Given the description of an element on the screen output the (x, y) to click on. 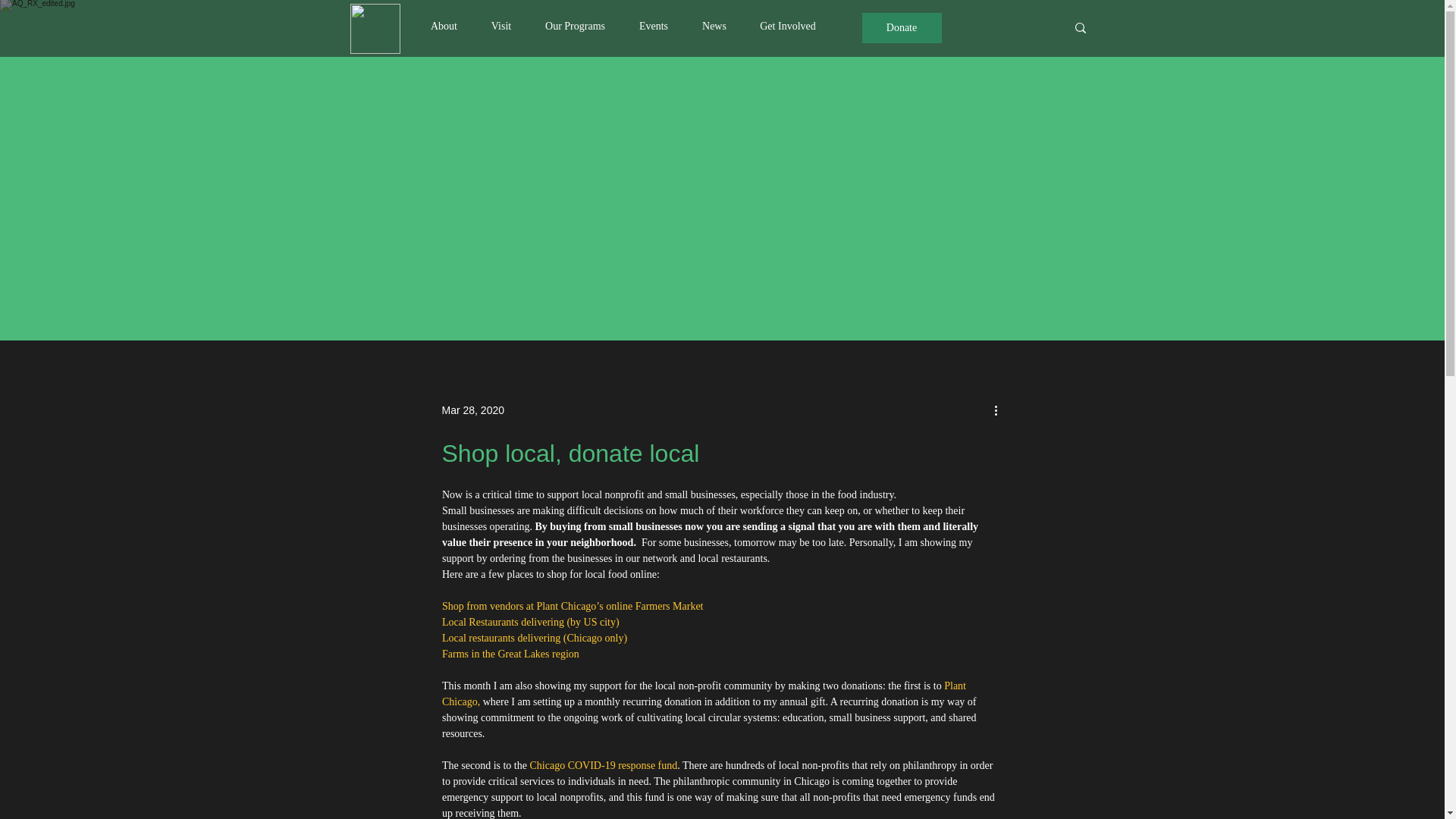
Donate (900, 28)
Events (652, 19)
Mar 28, 2020 (472, 409)
Chicago COVID-19 response fund (603, 765)
Plant Chicago, (704, 693)
Farms in the Great Lakes region (509, 654)
Visit (501, 19)
